Given the description of an element on the screen output the (x, y) to click on. 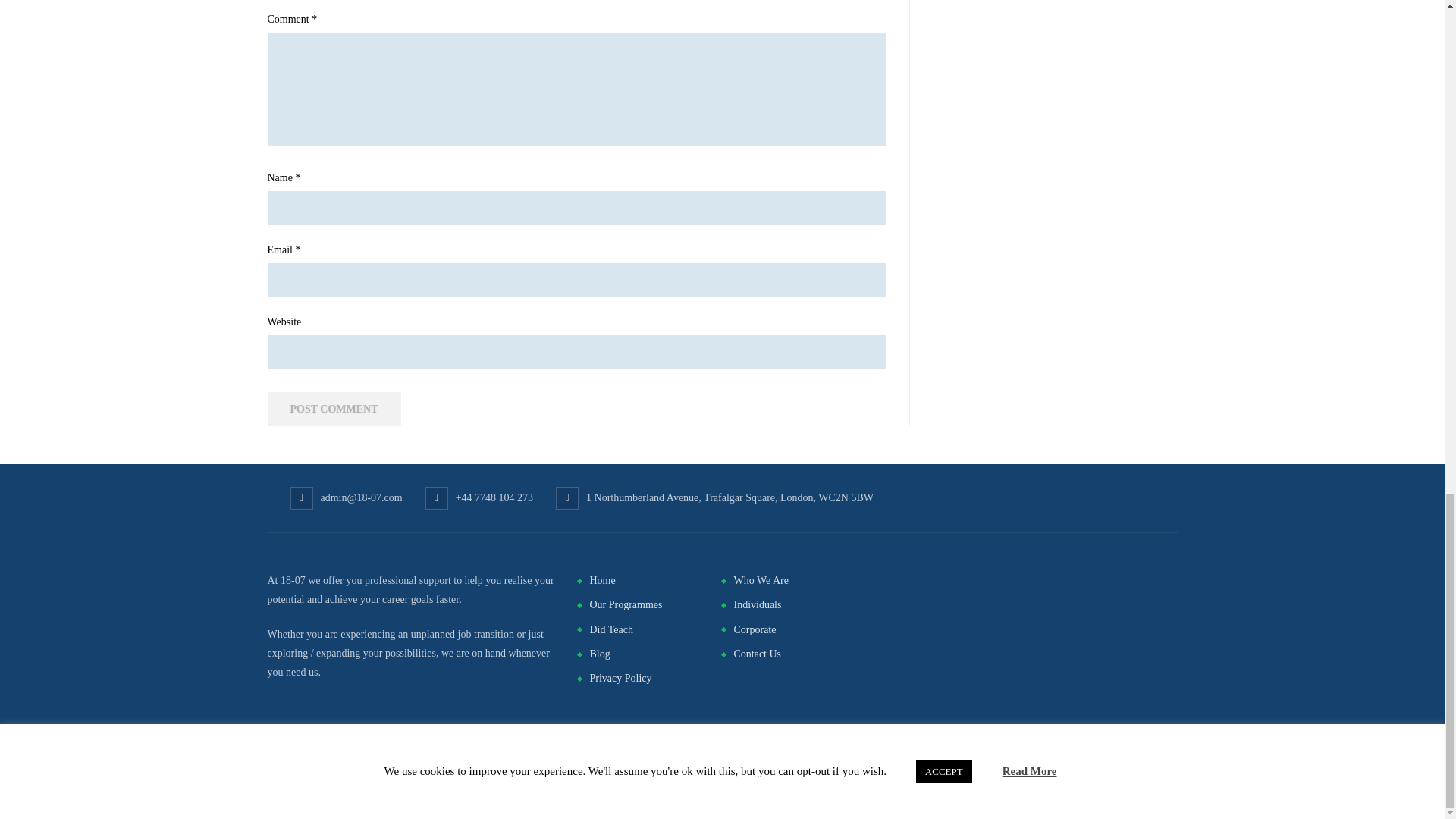
Who We Are (760, 580)
Post Comment (333, 408)
Home (601, 580)
Our Programmes (625, 604)
Post Comment (333, 408)
